Given the description of an element on the screen output the (x, y) to click on. 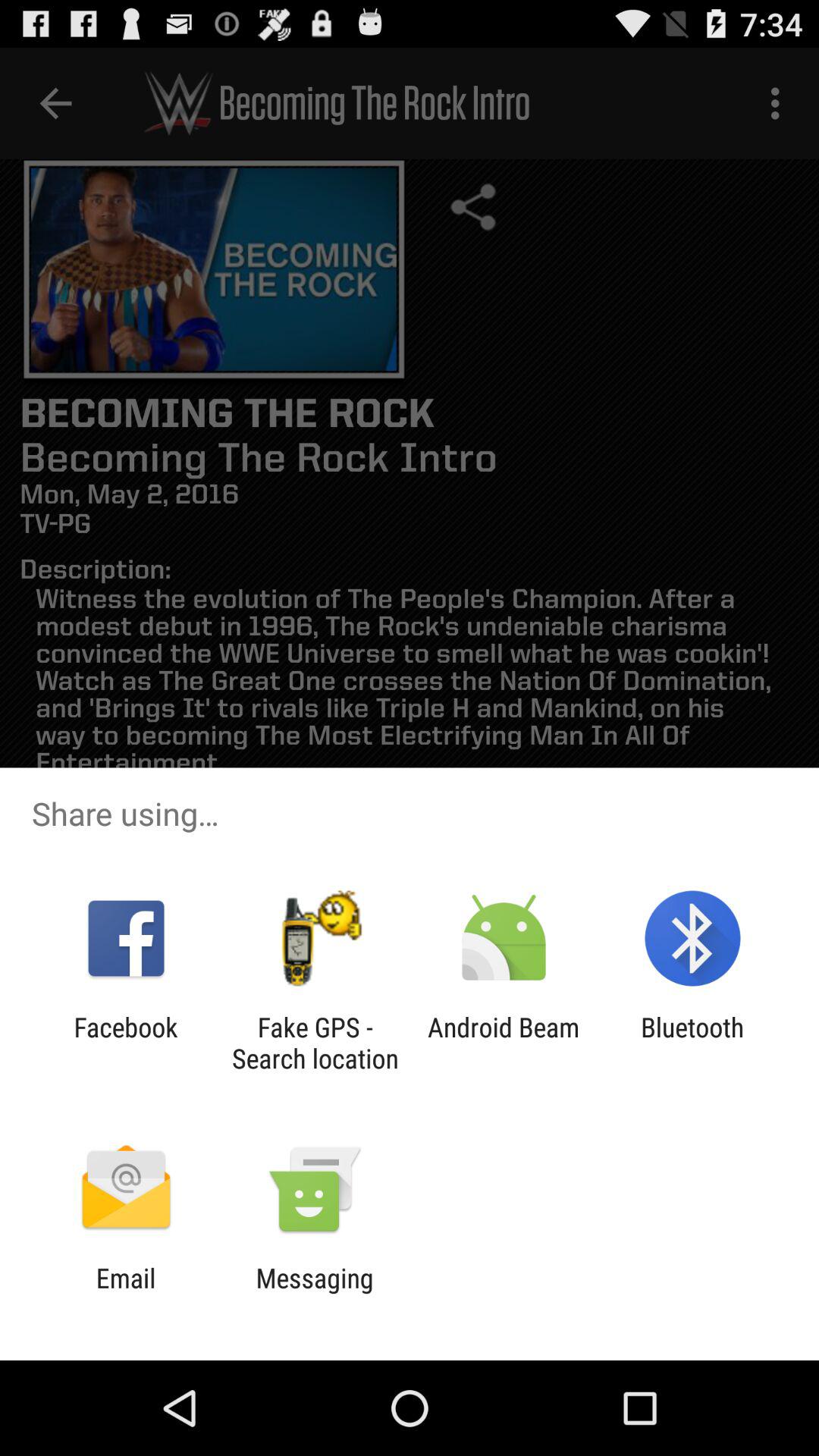
click the icon to the right of the facebook icon (314, 1042)
